Given the description of an element on the screen output the (x, y) to click on. 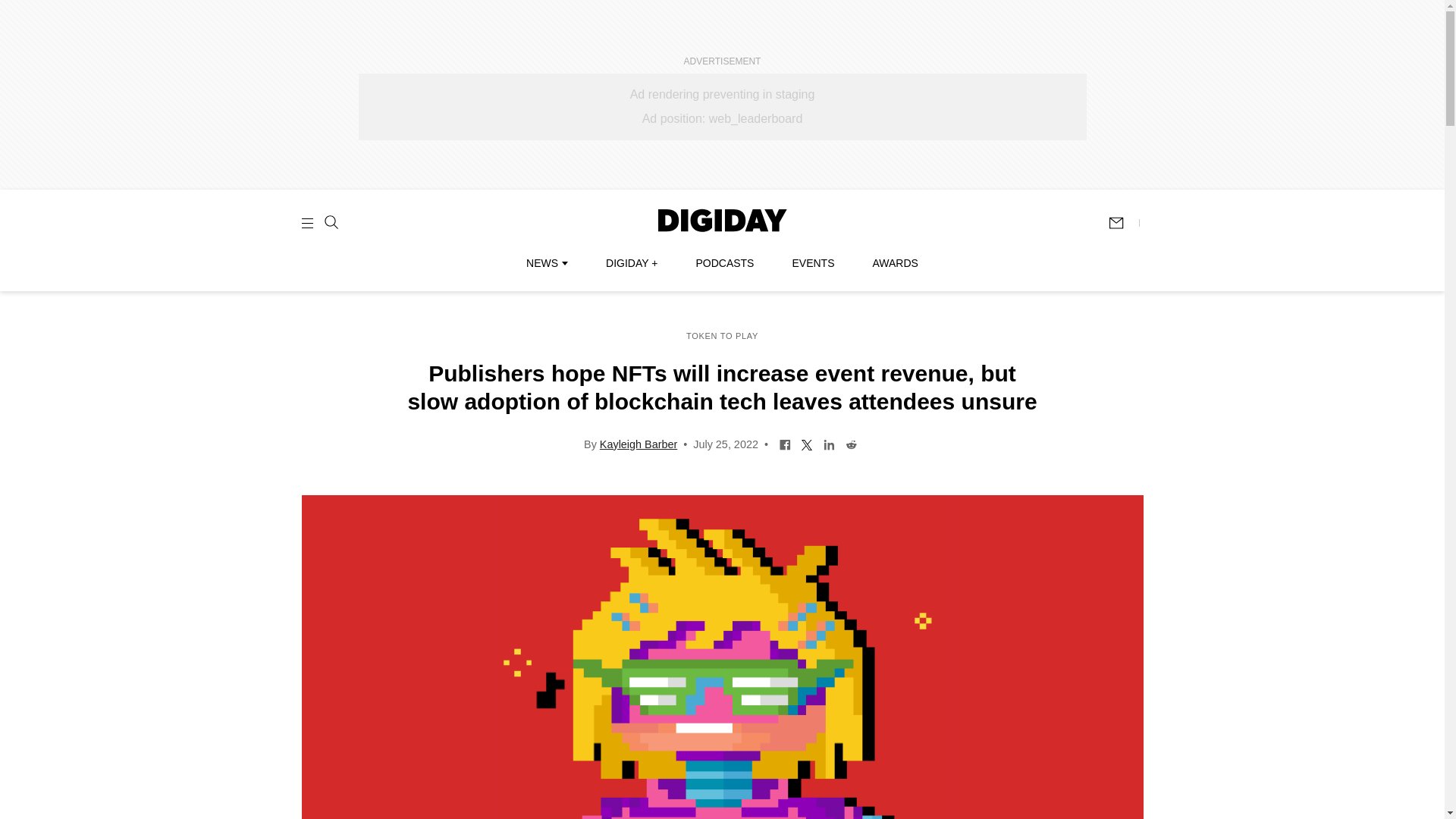
Share on Twitter (806, 443)
Share on Reddit (850, 443)
EVENTS (813, 262)
AWARDS (894, 262)
Share on Facebook (785, 443)
PODCASTS (725, 262)
Subscribe (1123, 223)
NEWS (546, 262)
Share on LinkedIn (828, 443)
